Given the description of an element on the screen output the (x, y) to click on. 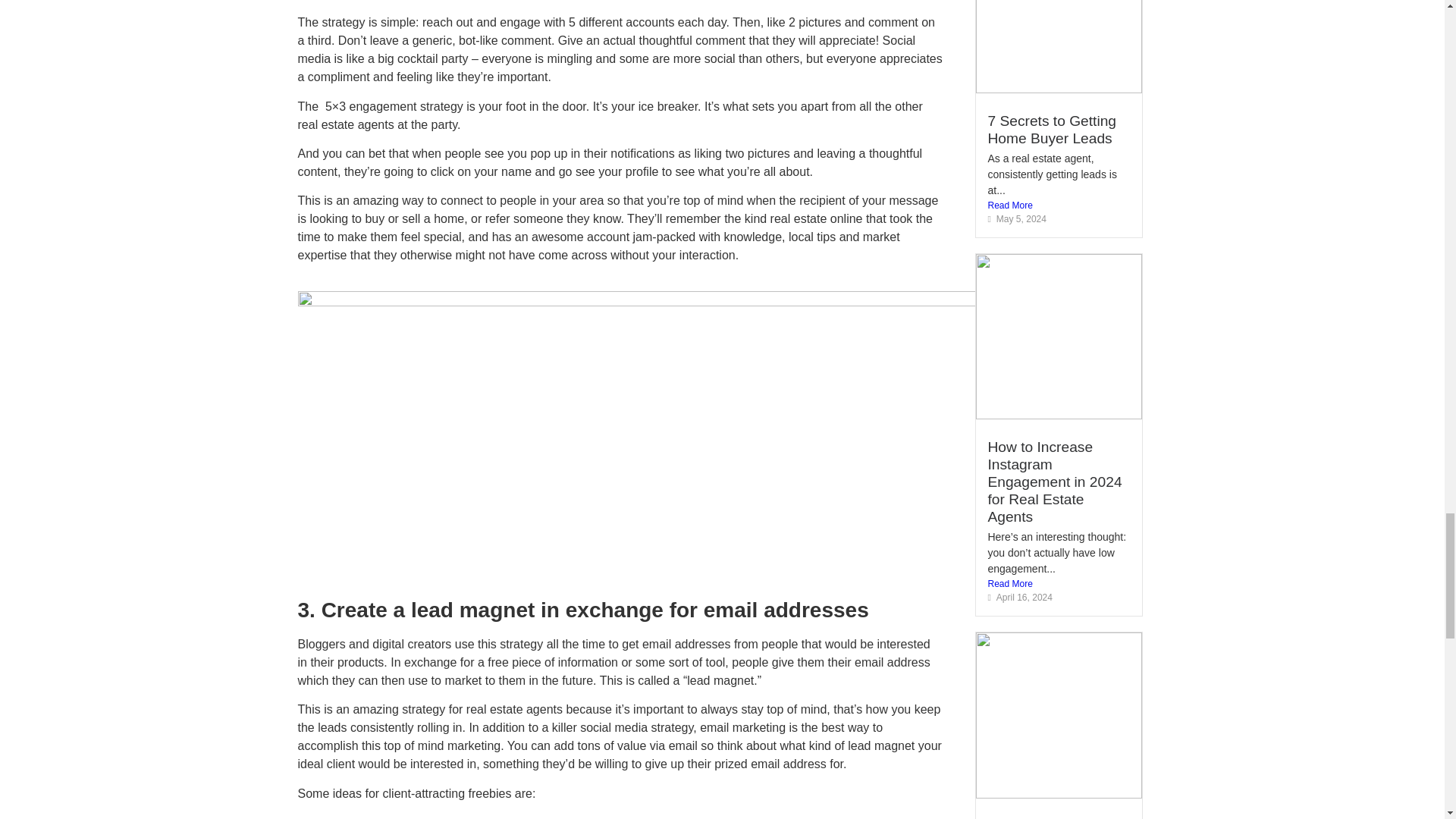
7 Secrets to Getting Home Buyer Leads (1051, 129)
